Given the description of an element on the screen output the (x, y) to click on. 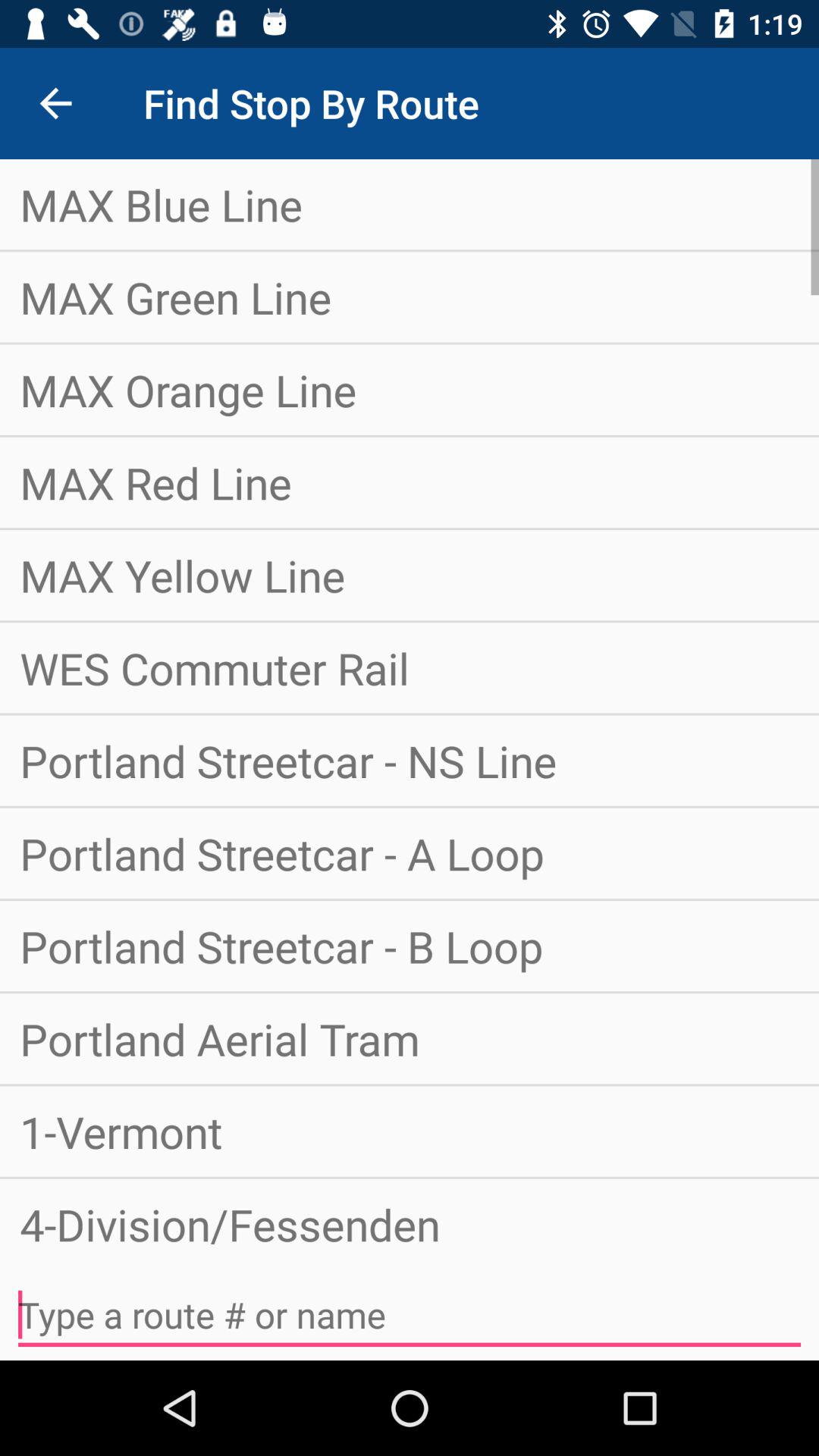
jump to the 4-division/fessenden item (409, 1217)
